Given the description of an element on the screen output the (x, y) to click on. 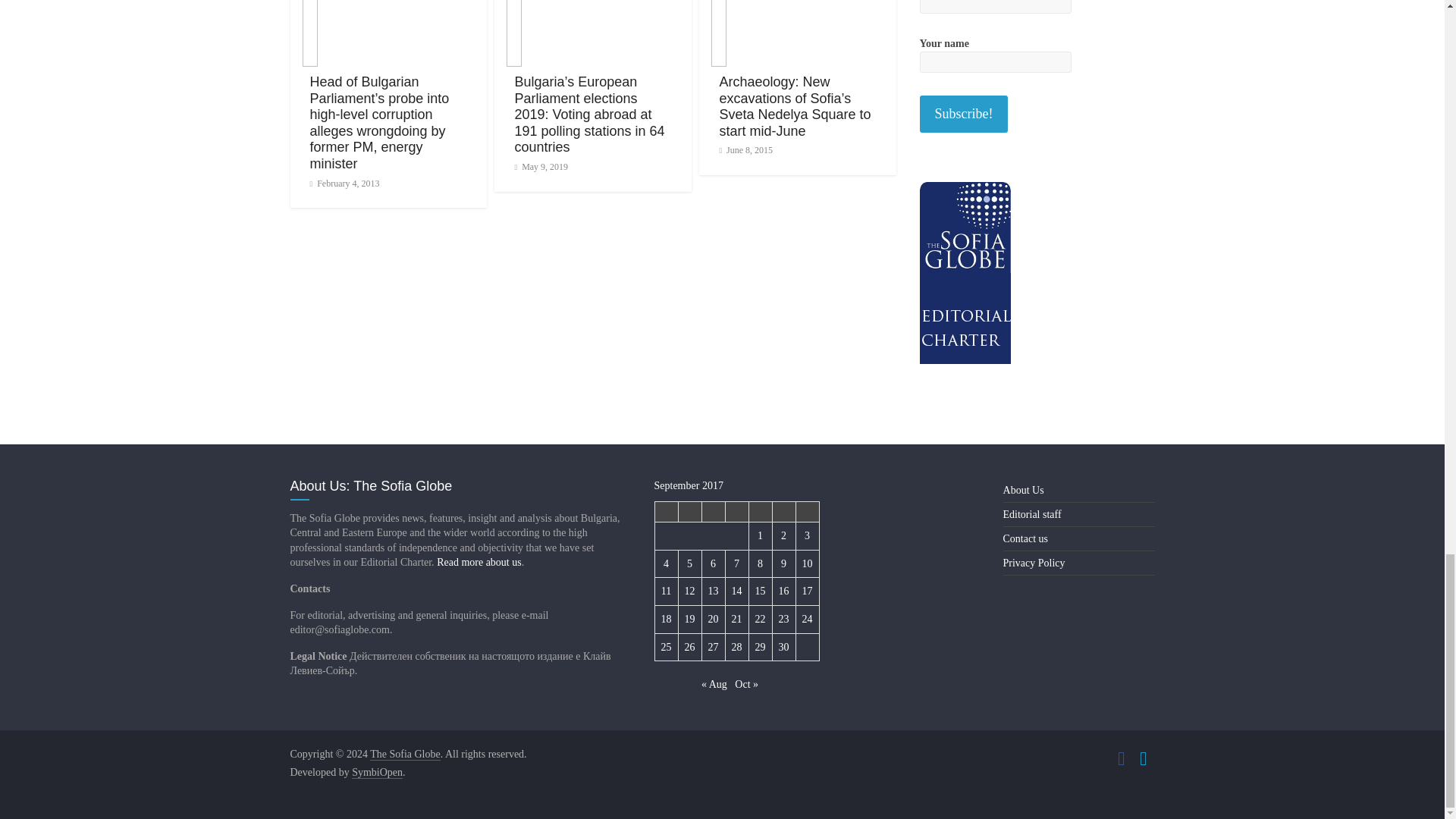
Subscribe! (962, 113)
February 4, 2013 (343, 183)
3:46 PM (343, 183)
May 9, 2019 (540, 166)
June 8, 2015 (746, 149)
4:00 PM (540, 166)
